Given the description of an element on the screen output the (x, y) to click on. 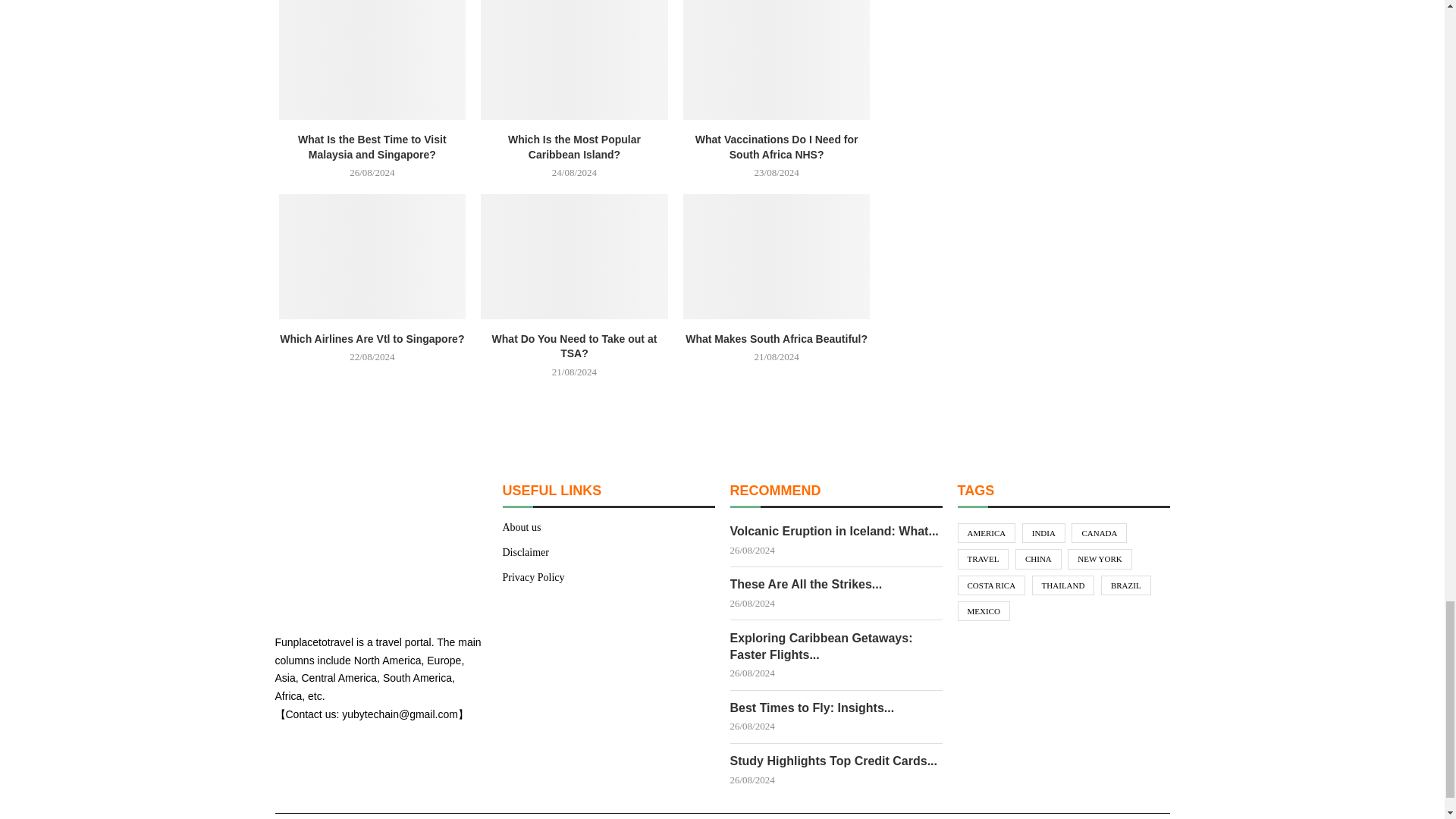
Which Airlines Are Vtl to Singapore? (372, 256)
What Vaccinations Do I Need for South Africa NHS? (776, 59)
What Makes South Africa Beautiful? (776, 256)
Which Is the Most Popular Caribbean Island? (574, 59)
What Is the Best Time to Visit Malaysia and Singapore? (372, 59)
What Do You Need to Take out at TSA? (574, 256)
